Given the description of an element on the screen output the (x, y) to click on. 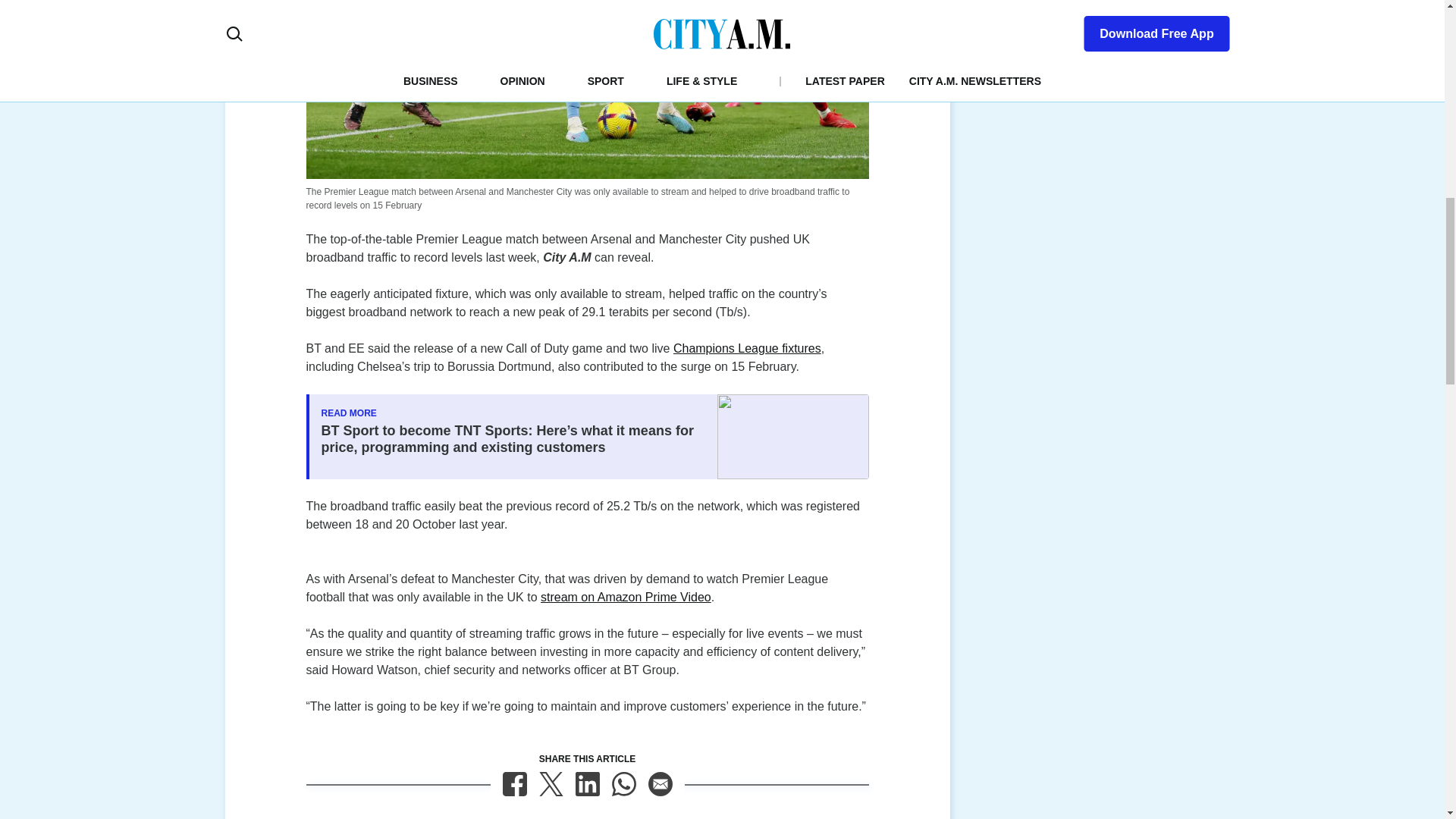
Email (659, 784)
LinkedIn (586, 784)
X (550, 784)
Facebook (513, 784)
WhatsApp (622, 784)
